Given the description of an element on the screen output the (x, y) to click on. 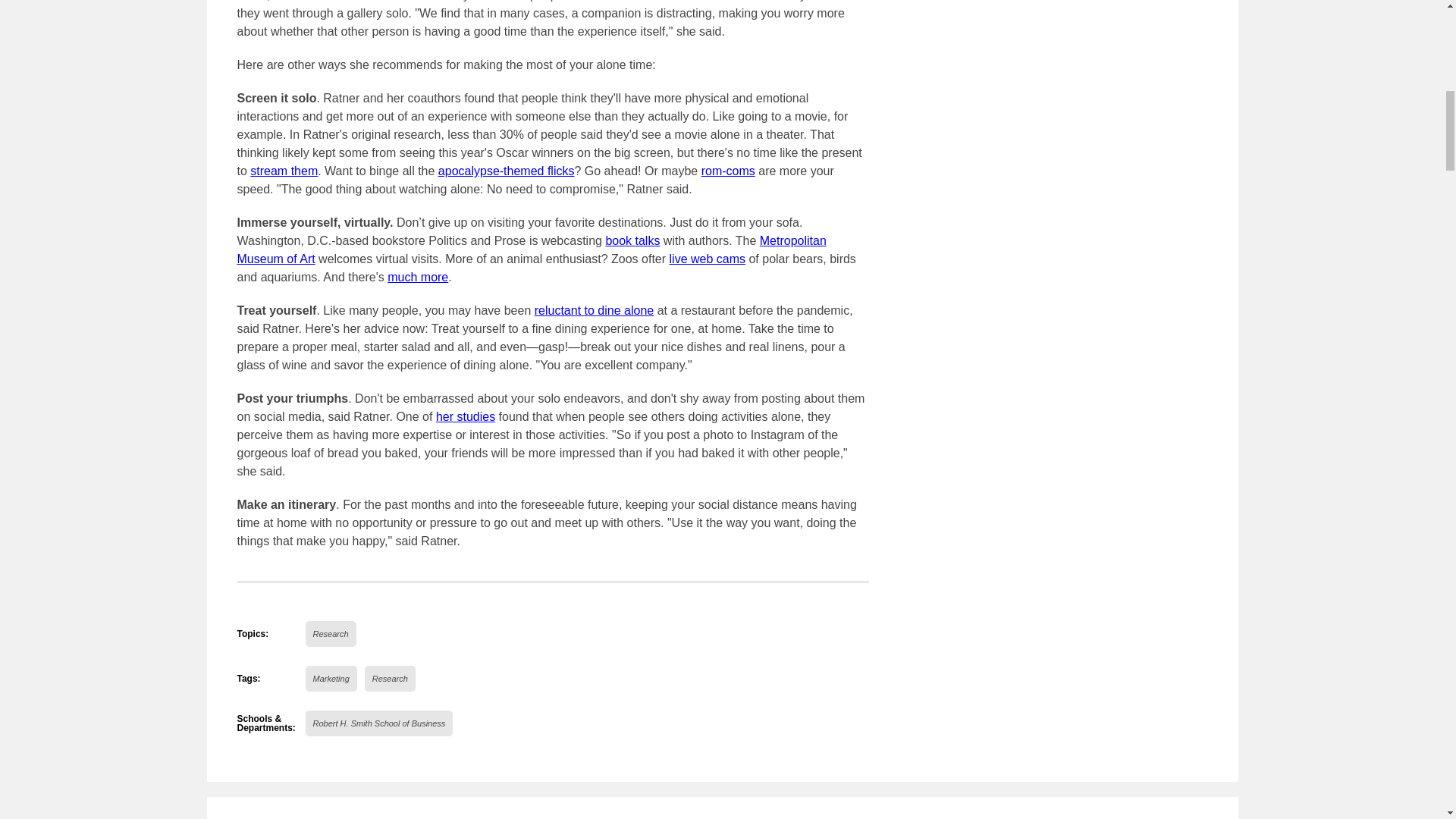
book talks (632, 240)
stream them (283, 170)
apocalypse-themed flicks (506, 170)
rom-coms (728, 170)
